Given the description of an element on the screen output the (x, y) to click on. 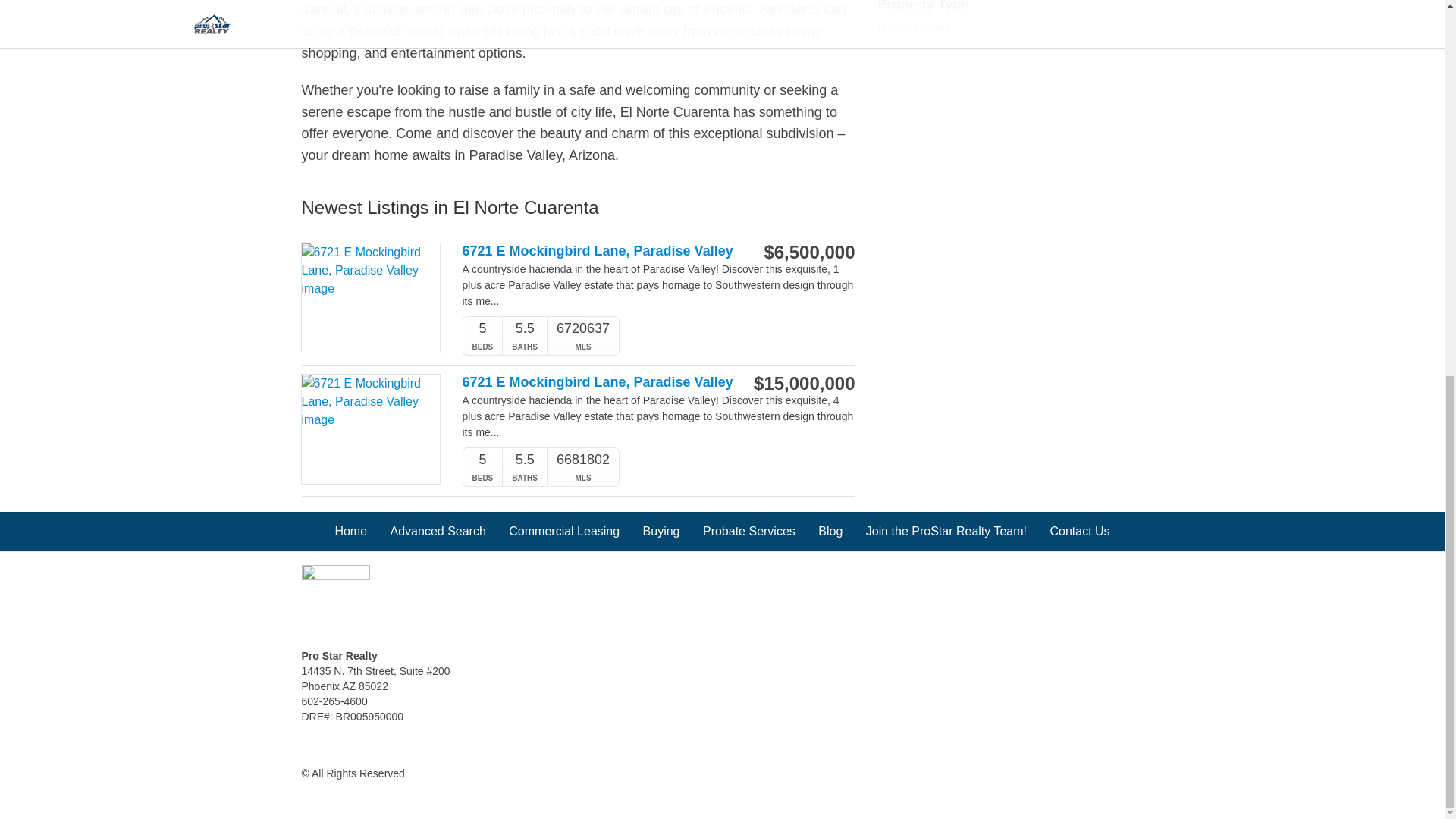
Commercial Leasing (564, 530)
Advanced Search (438, 530)
Probate Services (748, 530)
Join the ProStar Realty Team! (946, 530)
Home (350, 530)
Contact Us (1079, 530)
Buying (661, 530)
6721 E Mockingbird Lane, Paradise Valley (600, 251)
Blog (830, 530)
Homes for Sale (913, 27)
6721 E Mockingbird Lane, Paradise Valley (600, 382)
